Given the description of an element on the screen output the (x, y) to click on. 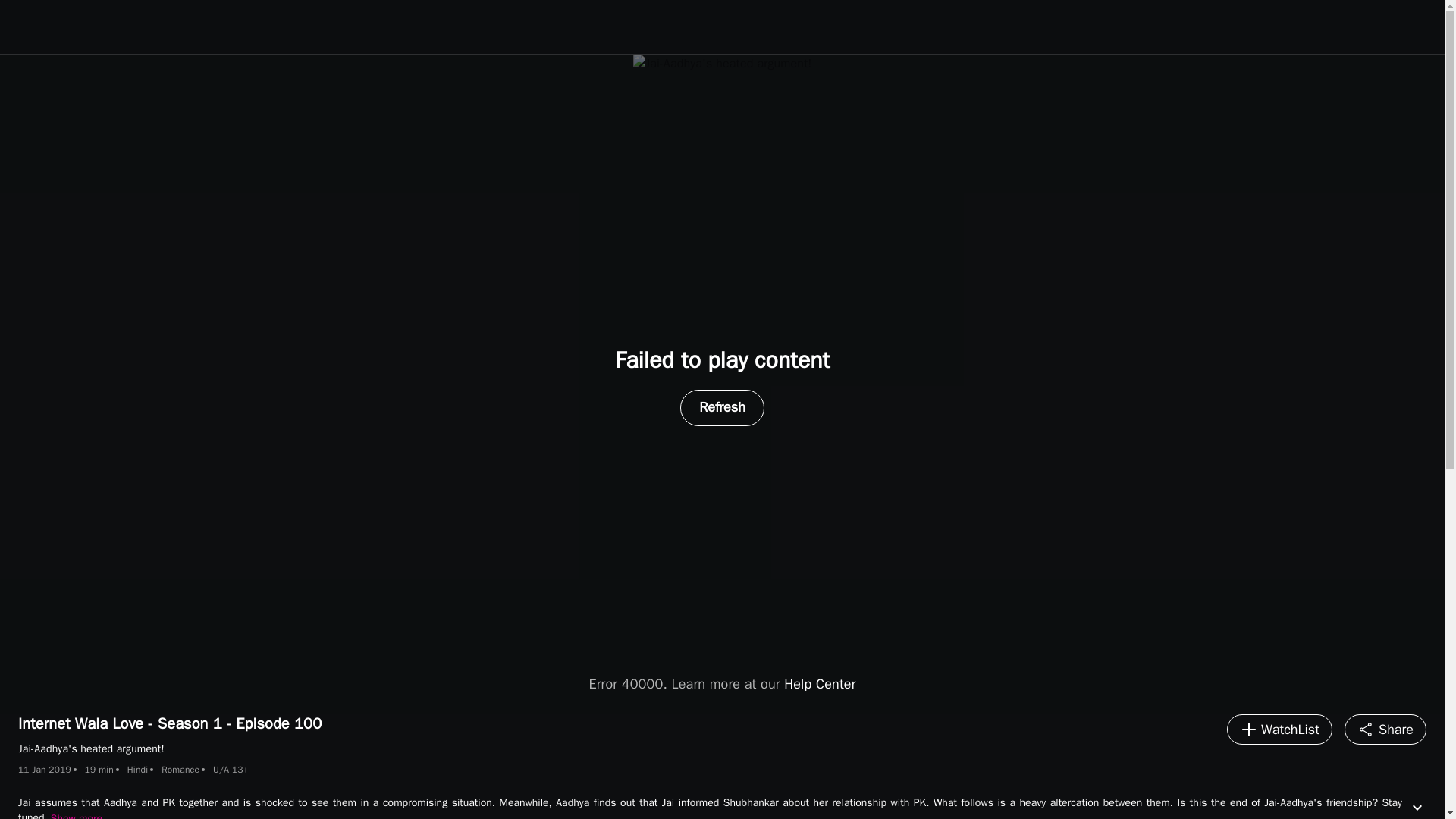
WatchList (1279, 729)
Share (1384, 729)
Refresh (721, 407)
